Given the description of an element on the screen output the (x, y) to click on. 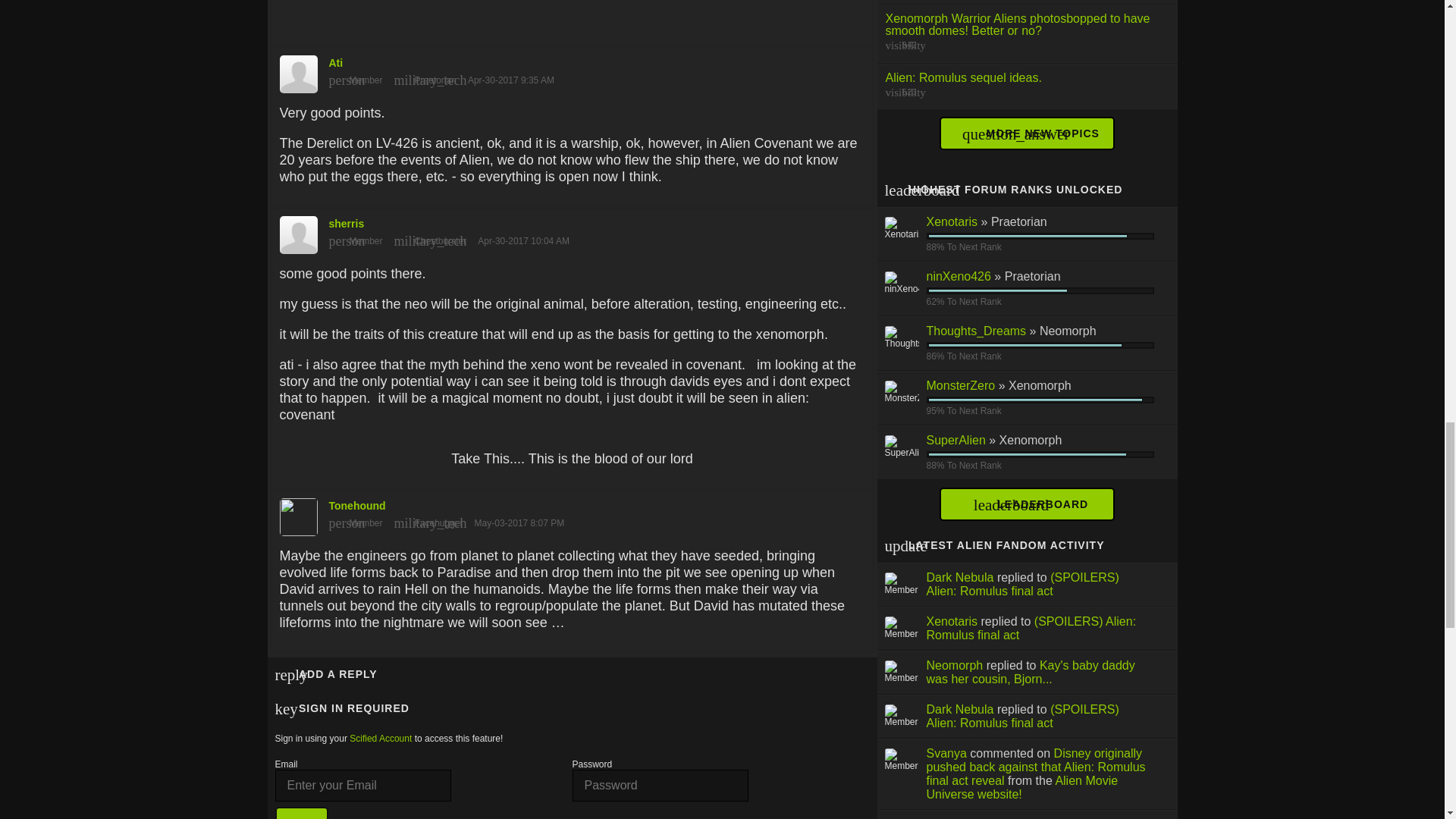
Ati (571, 70)
Sign In (302, 812)
Scified Account (380, 738)
sherris (571, 231)
Tonehound (571, 512)
